Given the description of an element on the screen output the (x, y) to click on. 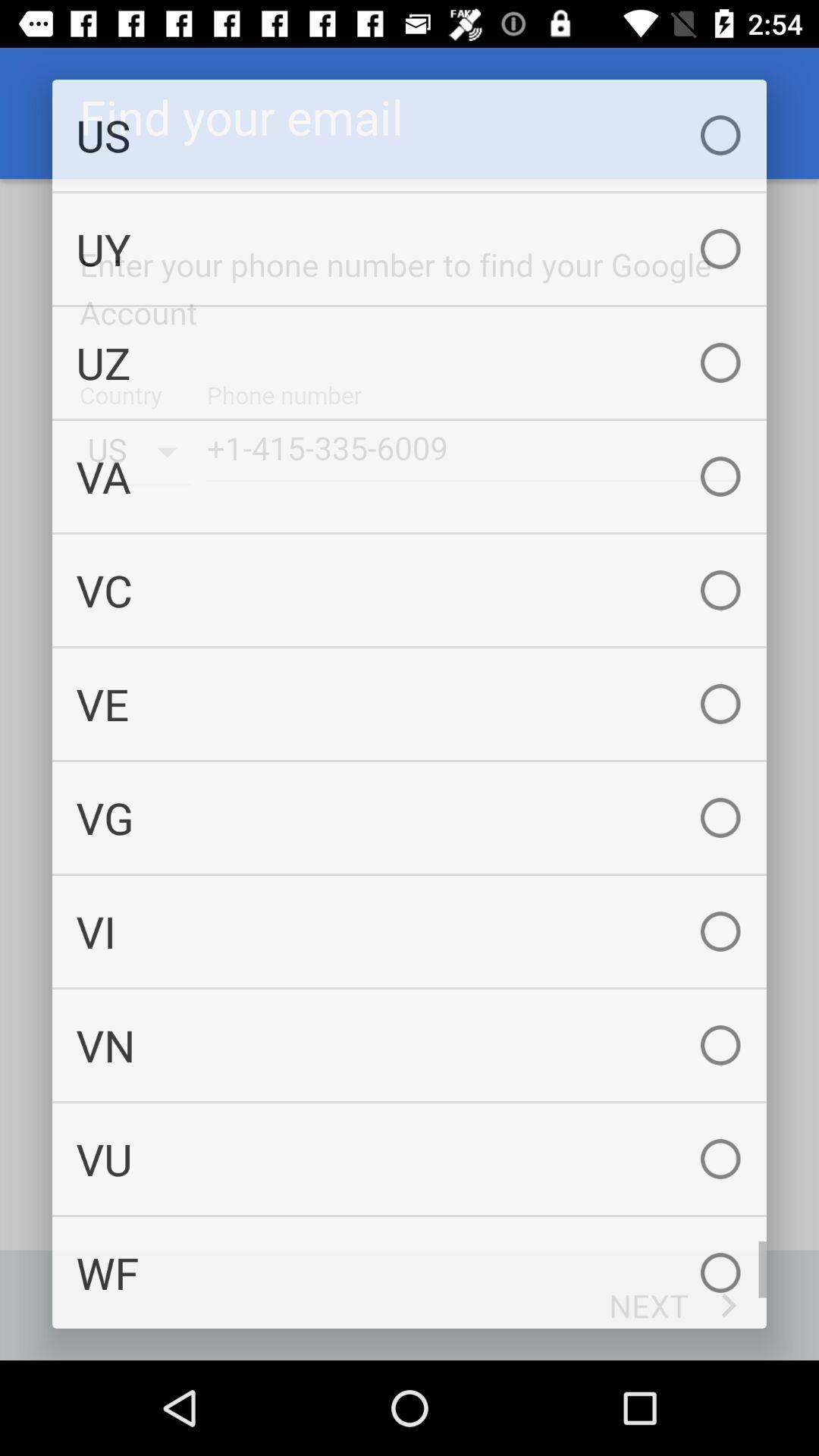
select the item below vu (409, 1272)
